Given the description of an element on the screen output the (x, y) to click on. 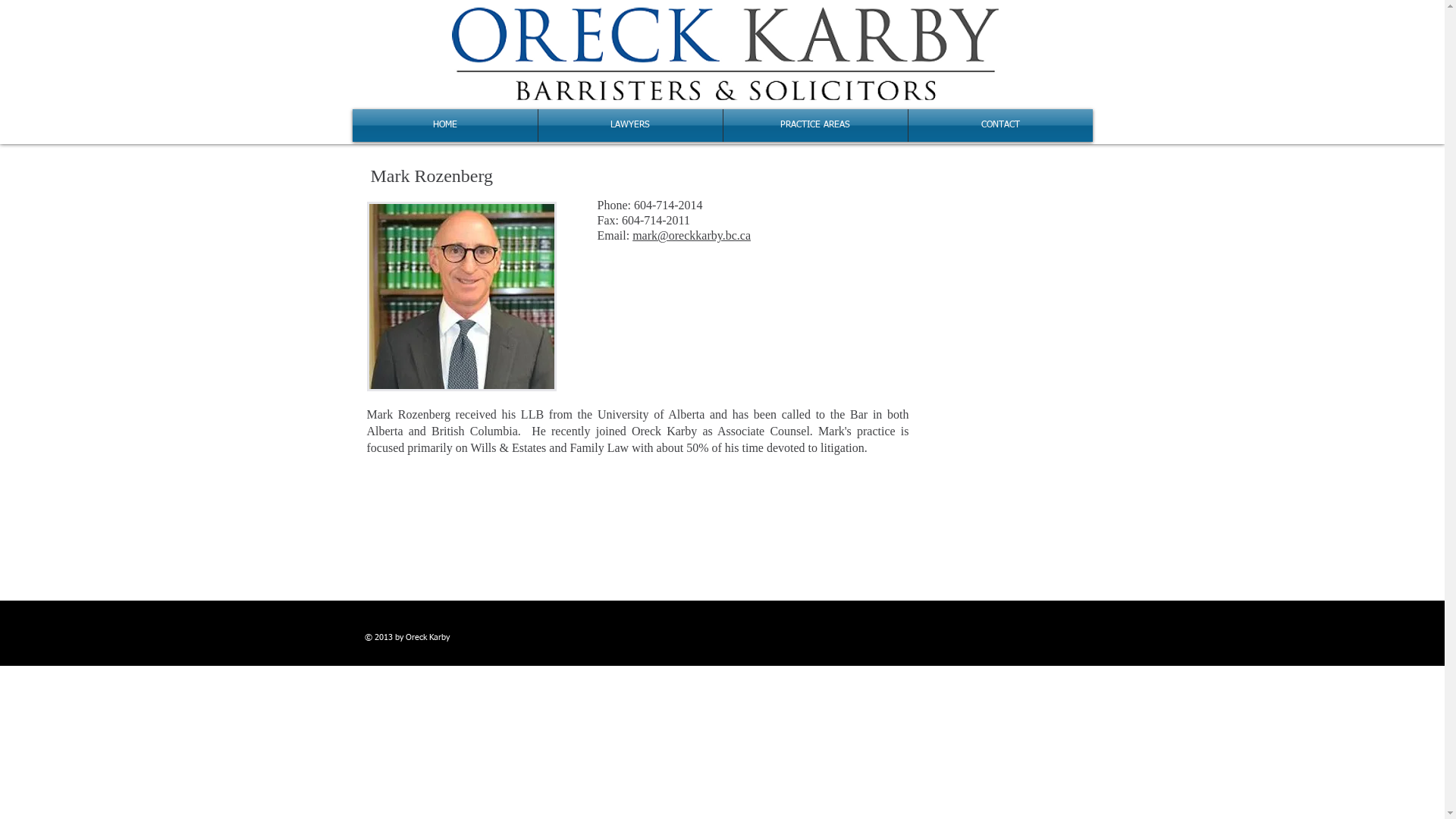
LAWYERS Element type: text (630, 125)
mark@oreckkarby.bc.ca Element type: text (691, 235)
Mark.jpg Element type: hover (461, 296)
HOME Element type: text (443, 125)
PRACTICE AREAS Element type: text (815, 125)
CONTACT Element type: text (1000, 125)
